Given the description of an element on the screen output the (x, y) to click on. 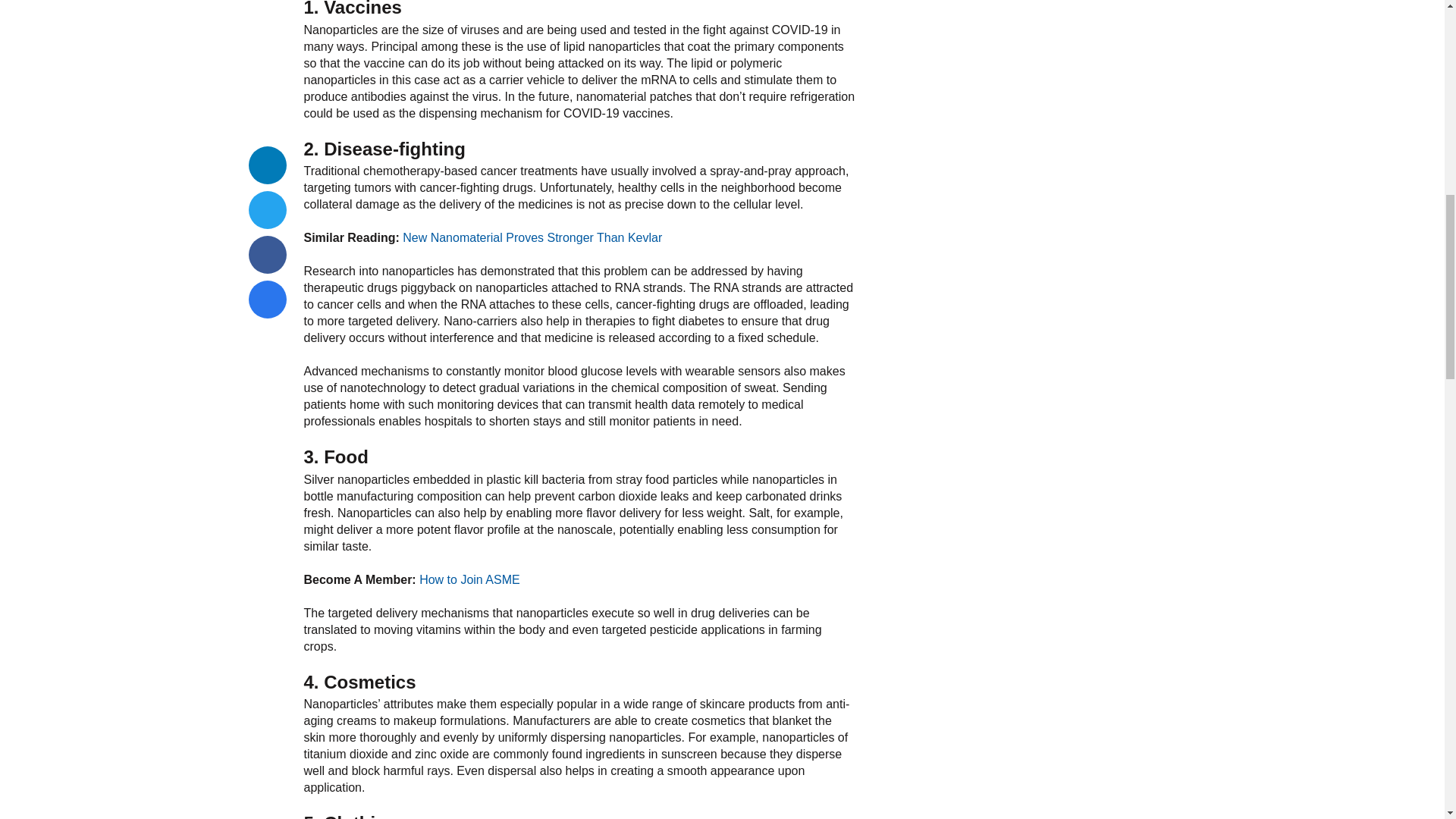
How to Join ASME (469, 579)
New Nanomaterial Proves Stronger Than Kevlar (532, 237)
